Given the description of an element on the screen output the (x, y) to click on. 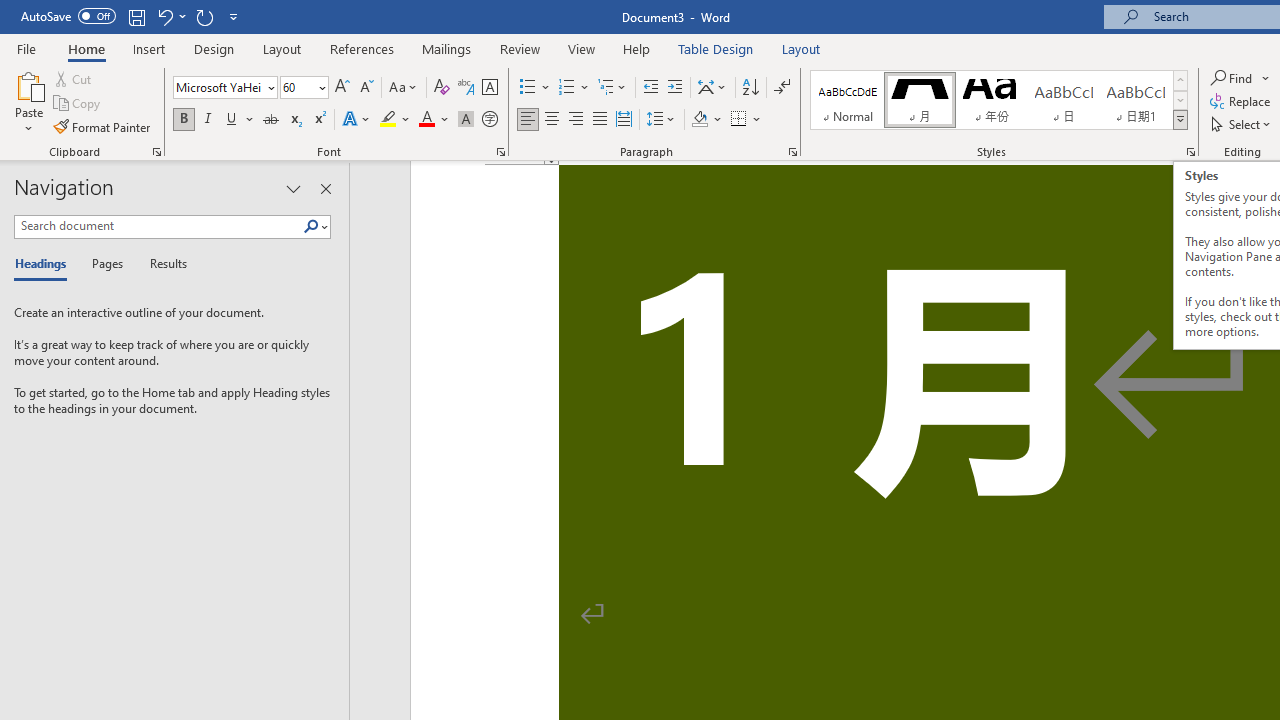
Italic (207, 119)
Task Pane Options (293, 188)
Home (86, 48)
AutoSave (68, 16)
Borders (746, 119)
Grow Font (342, 87)
Font (224, 87)
Pages (105, 264)
